Given the description of an element on the screen output the (x, y) to click on. 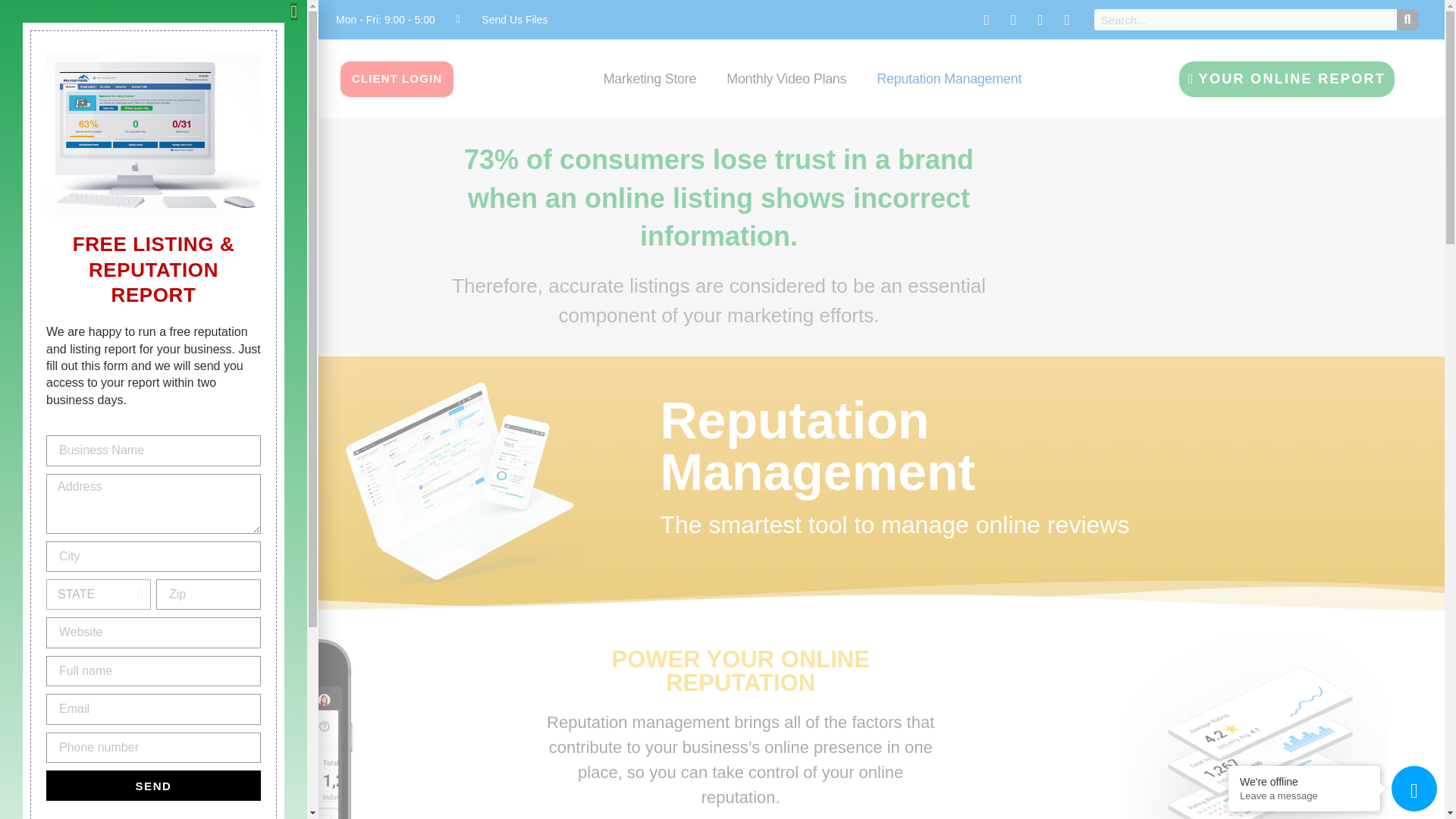
Leave a message (1304, 795)
CLIENT LOGIN (396, 54)
SEND (153, 785)
YOUR ONLINE REPORT (1286, 71)
Monthly Video Plans (786, 62)
We're offline (1304, 781)
Marketing Store (649, 59)
Reputation Management (948, 63)
